Given the description of an element on the screen output the (x, y) to click on. 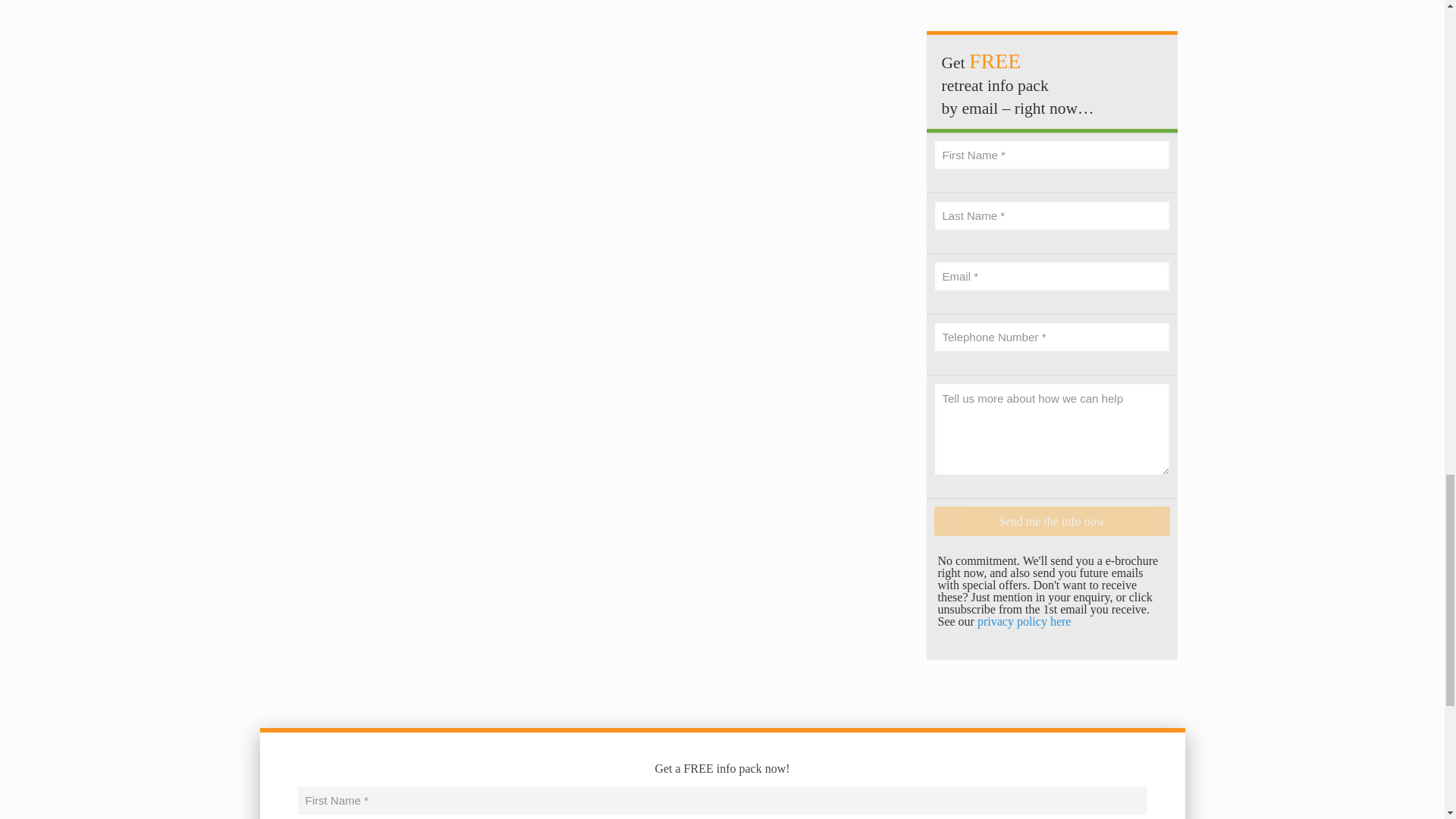
Send me the info now (1052, 521)
